Given the description of an element on the screen output the (x, y) to click on. 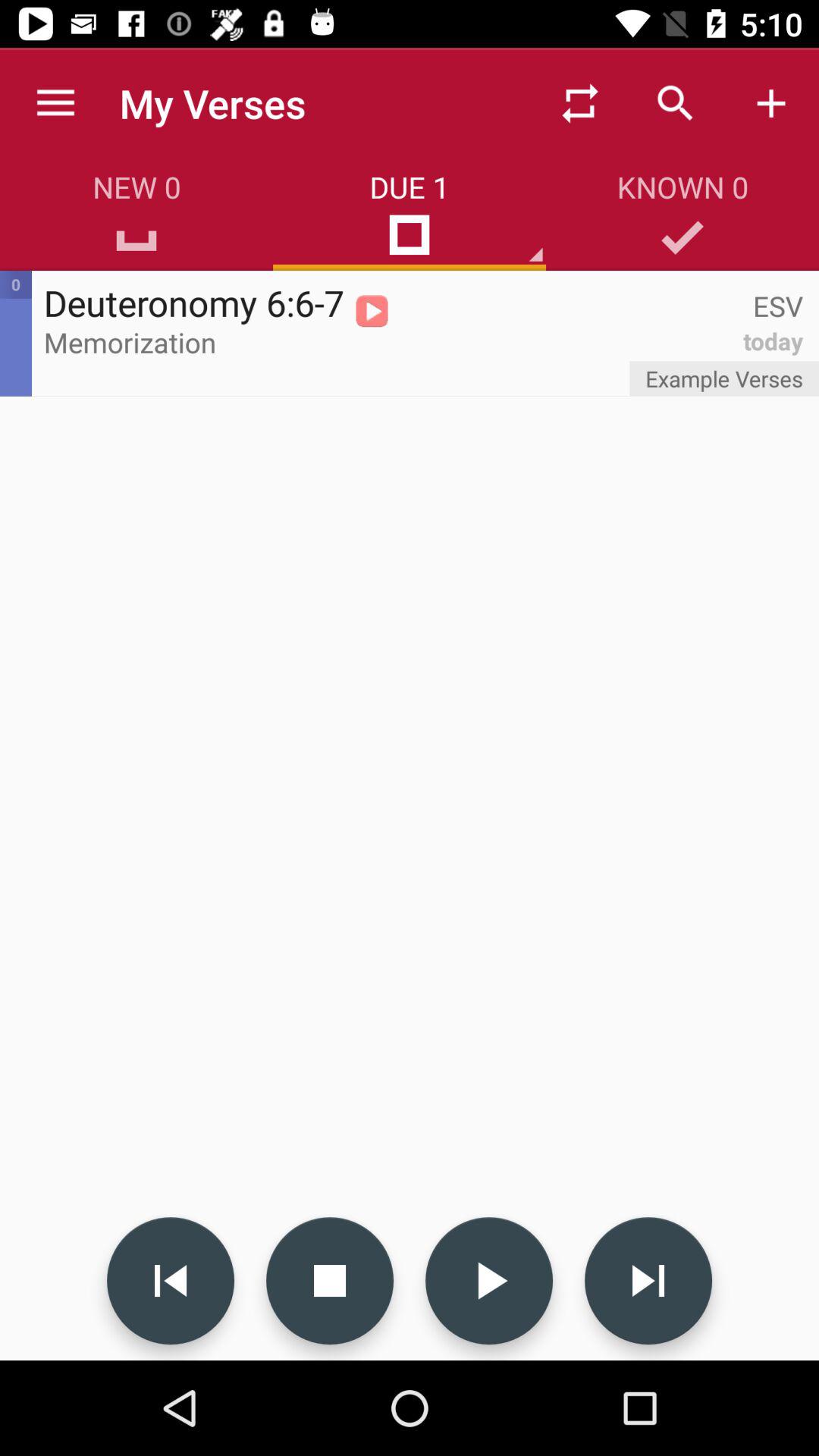
open app next to my verses app (55, 103)
